Given the description of an element on the screen output the (x, y) to click on. 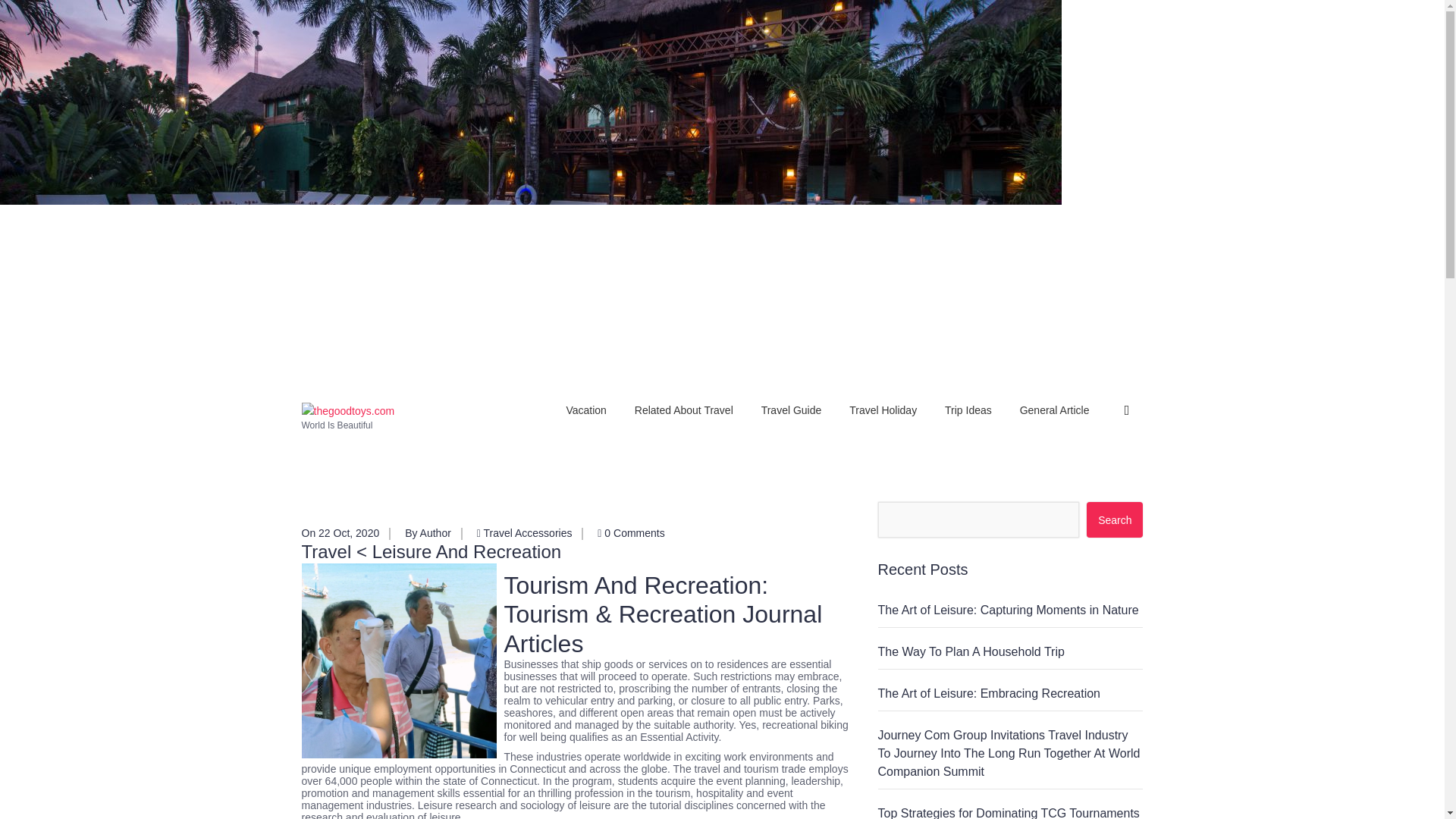
Travel Guide (791, 410)
Travel Holiday (882, 410)
Related About Travel (683, 410)
Search (1114, 519)
Trip Ideas (968, 410)
Vacation (585, 410)
Search (1114, 519)
Travel Guide (791, 410)
Related About Travel (683, 410)
General Article (1054, 410)
